Given the description of an element on the screen output the (x, y) to click on. 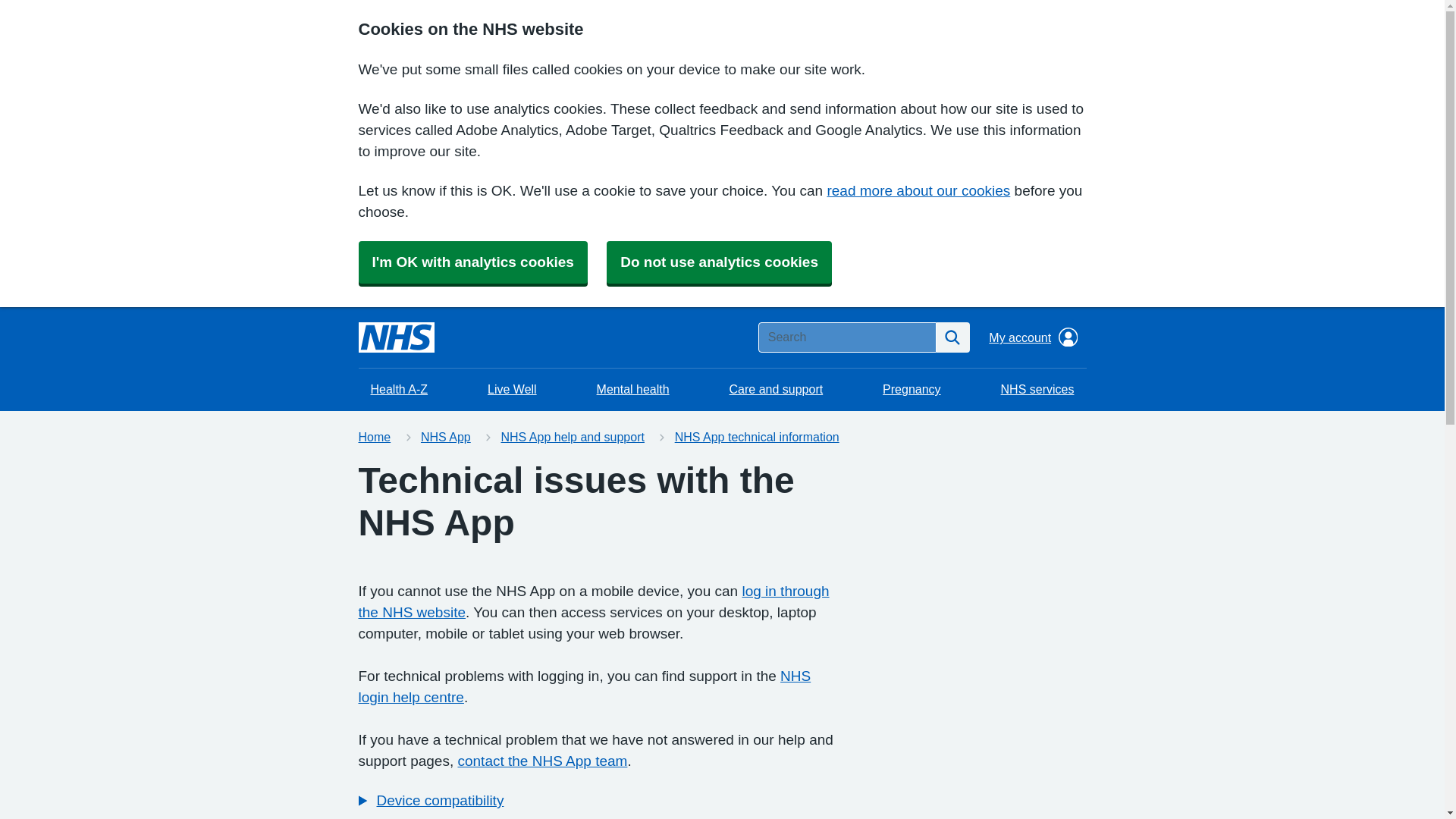
I'm OK with analytics cookies (472, 261)
Health A-Z (398, 389)
Search (952, 337)
Mental health (633, 389)
Live Well (512, 389)
Do not use analytics cookies (719, 261)
read more about our cookies (918, 190)
contact the NHS App team (542, 760)
My account (1032, 337)
NHS App (445, 436)
NHS App technical information (757, 436)
Home (374, 436)
Care and support (776, 389)
NHS login help centre (584, 686)
NHS services (1037, 389)
